Given the description of an element on the screen output the (x, y) to click on. 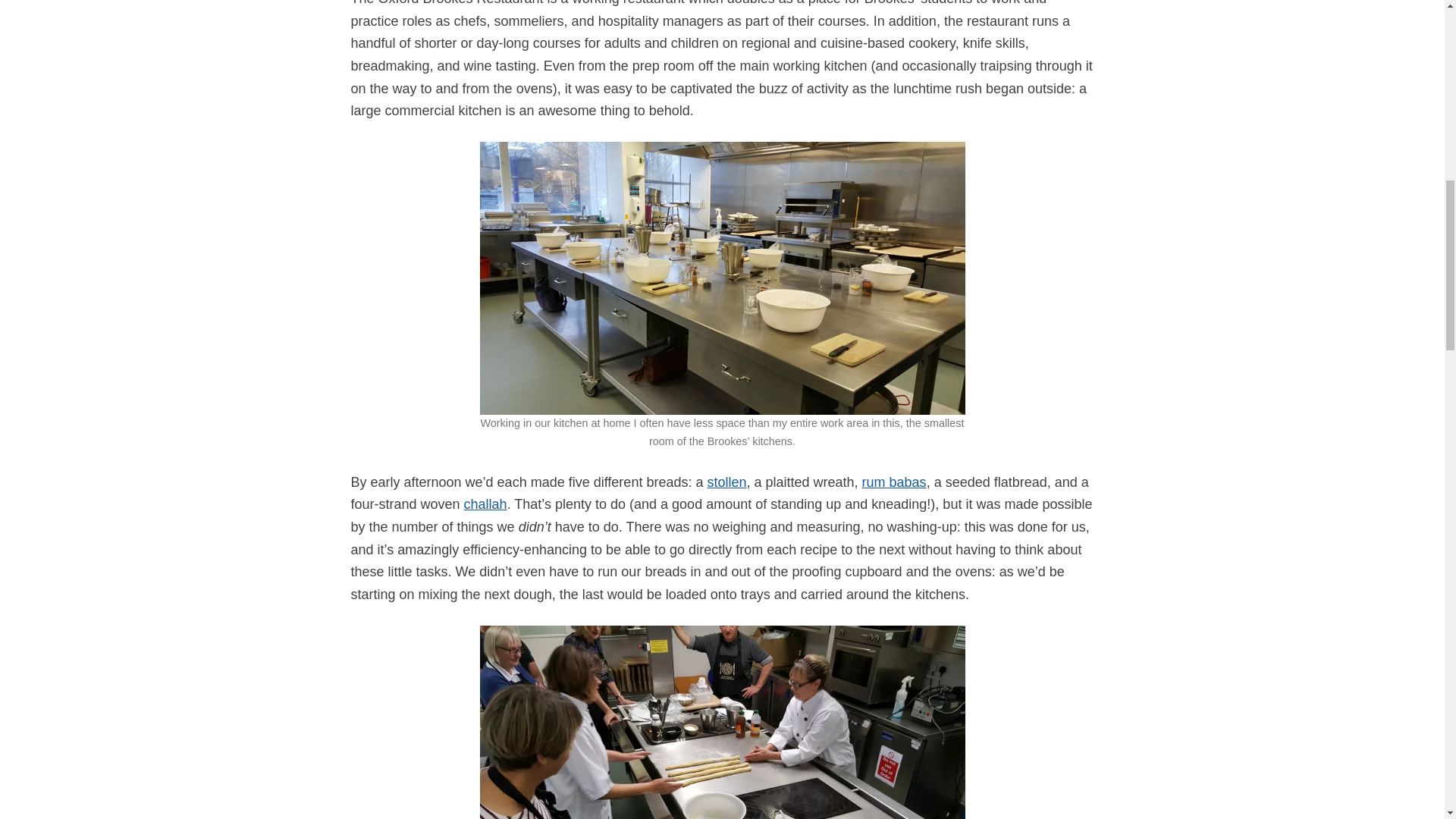
stollen (725, 482)
rum babas (893, 482)
challah (485, 503)
